Given the description of an element on the screen output the (x, y) to click on. 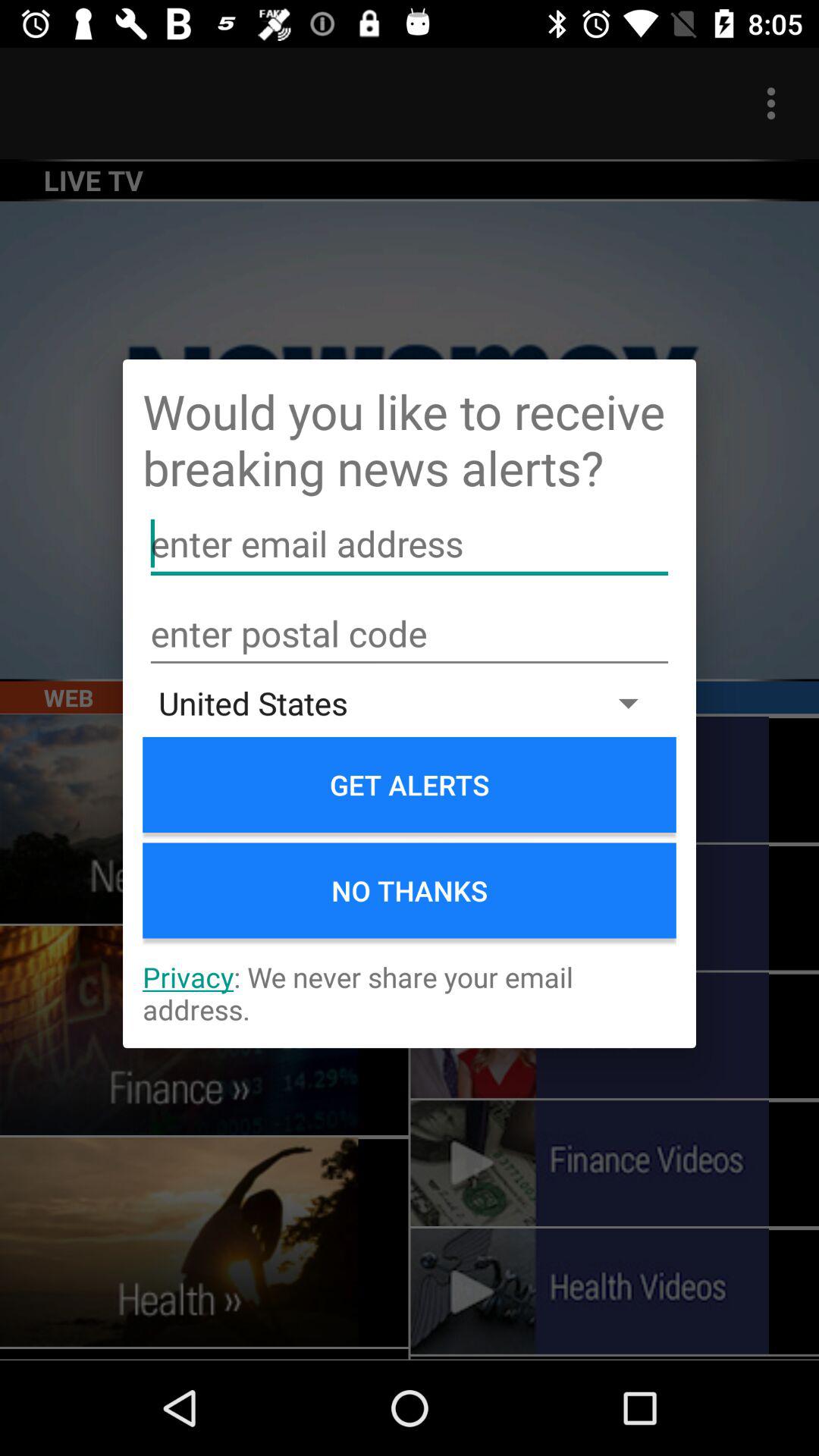
enter your email (409, 544)
